Given the description of an element on the screen output the (x, y) to click on. 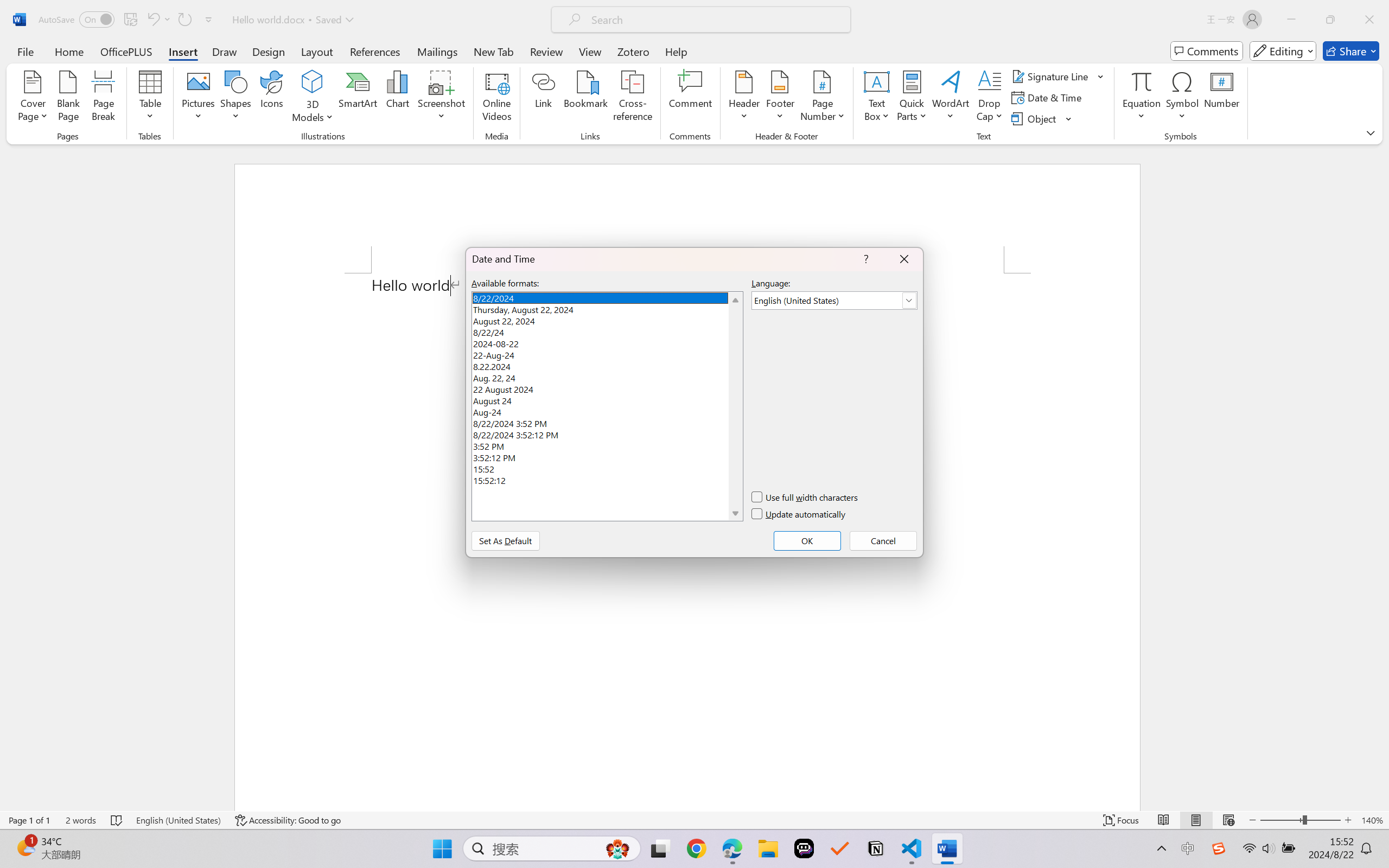
Drop Cap (989, 97)
August 22, 2024 (606, 319)
22-Aug-24 (606, 353)
3:52:12 PM (606, 455)
File Tab (24, 51)
Help (675, 51)
Class: MsoCommandBar (694, 819)
Set As Default (505, 540)
View (589, 51)
3D Models (312, 97)
AutoSave (76, 19)
